Given the description of an element on the screen output the (x, y) to click on. 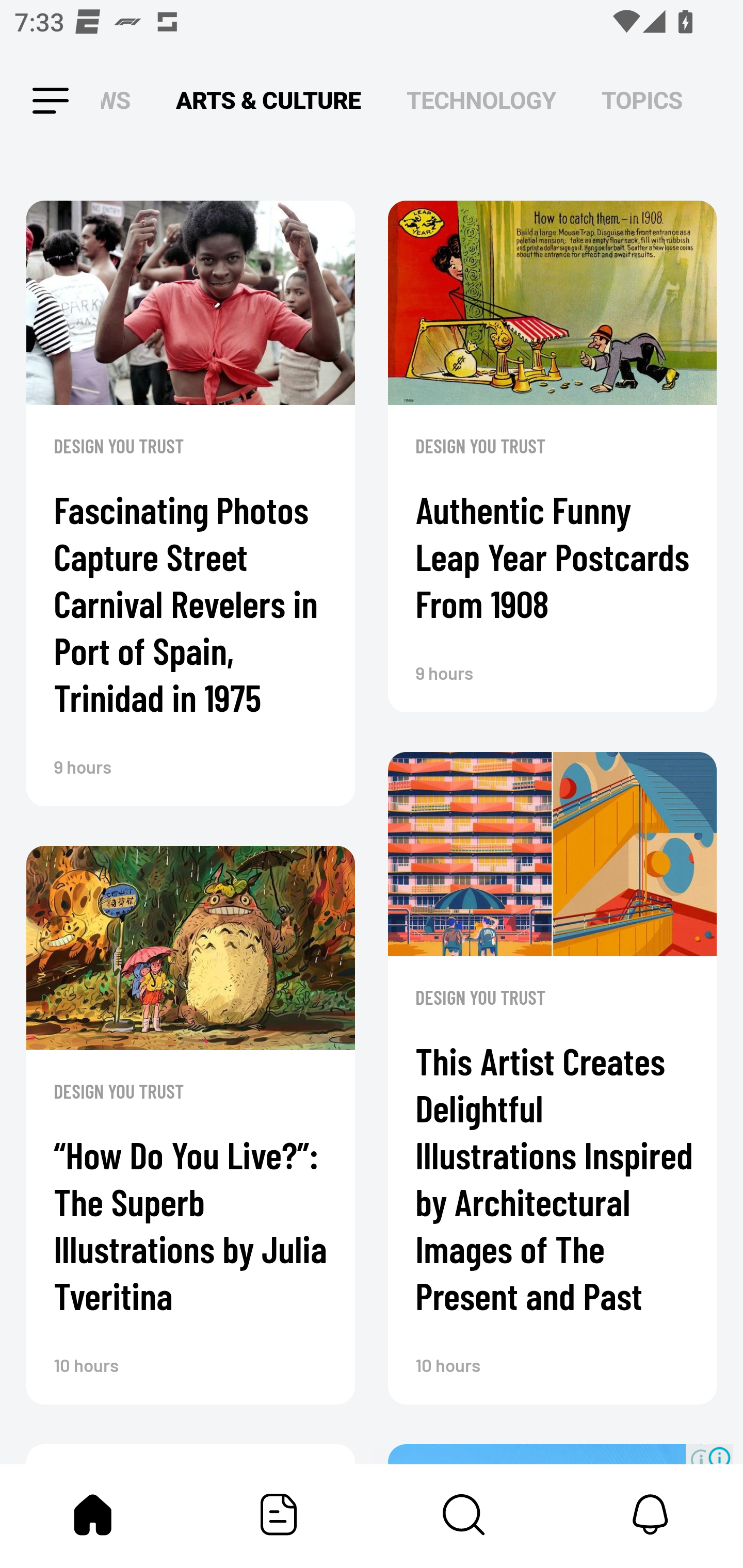
Leading Icon (32, 101)
NEWS (121, 100)
TECHNOLOGY (481, 100)
TOPICS (641, 100)
Featured (278, 1514)
Content Store (464, 1514)
Notifications (650, 1514)
